Given the description of an element on the screen output the (x, y) to click on. 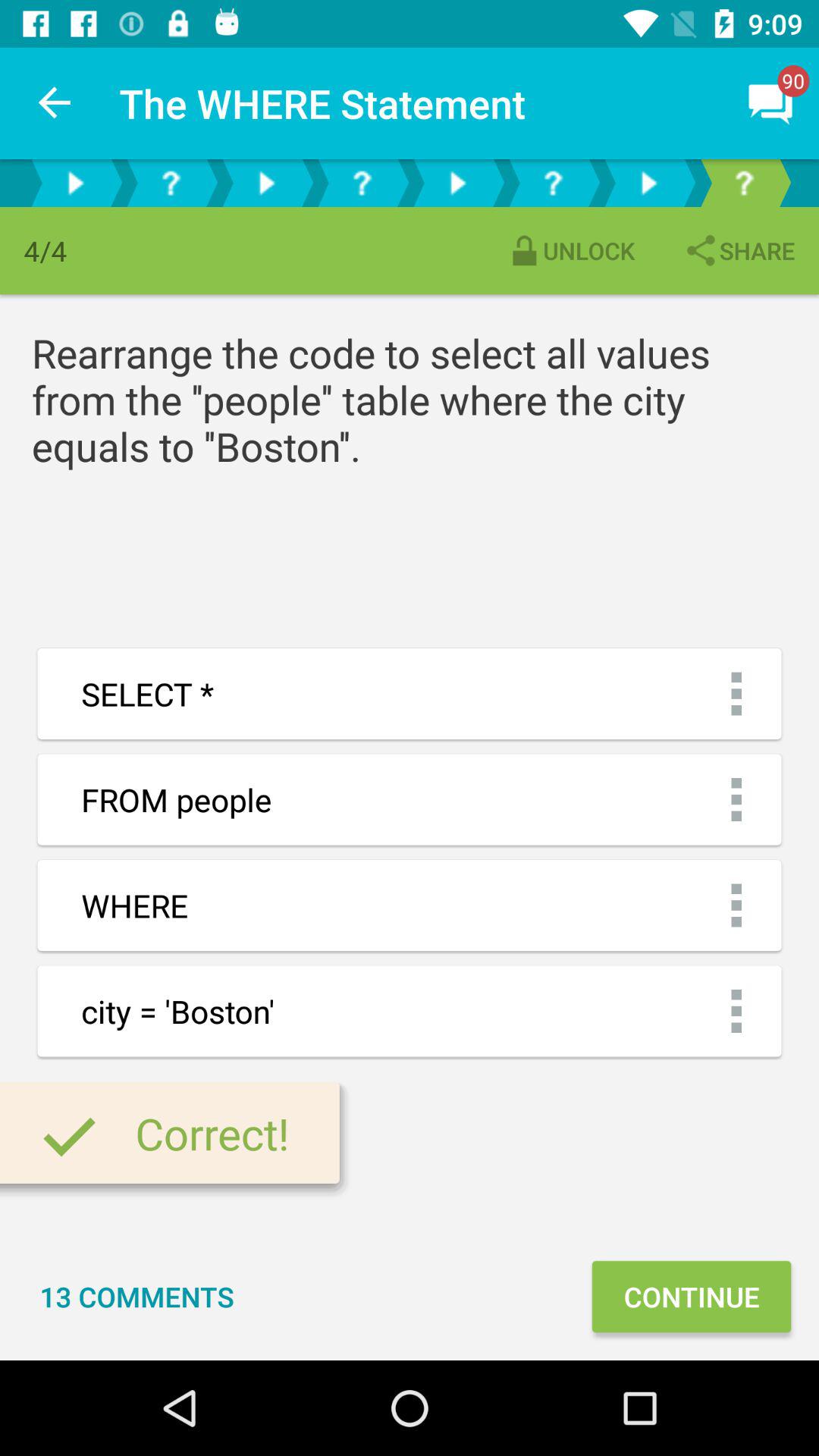
turn on the icon to the left of the where statement icon (55, 103)
